Given the description of an element on the screen output the (x, y) to click on. 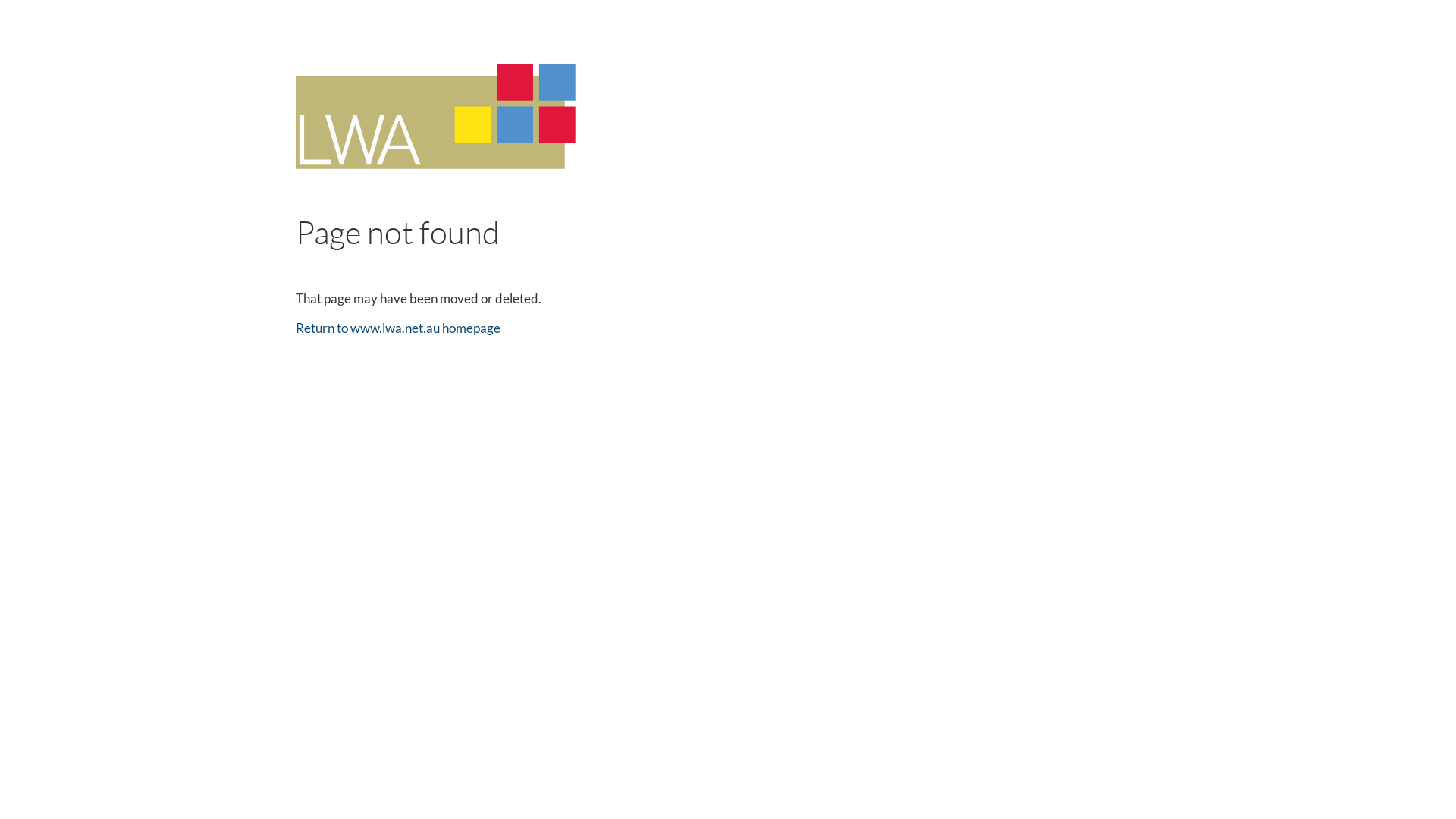
LWA Element type: hover (435, 116)
Return to www.lwa.net.au homepage Element type: text (397, 327)
